Given the description of an element on the screen output the (x, y) to click on. 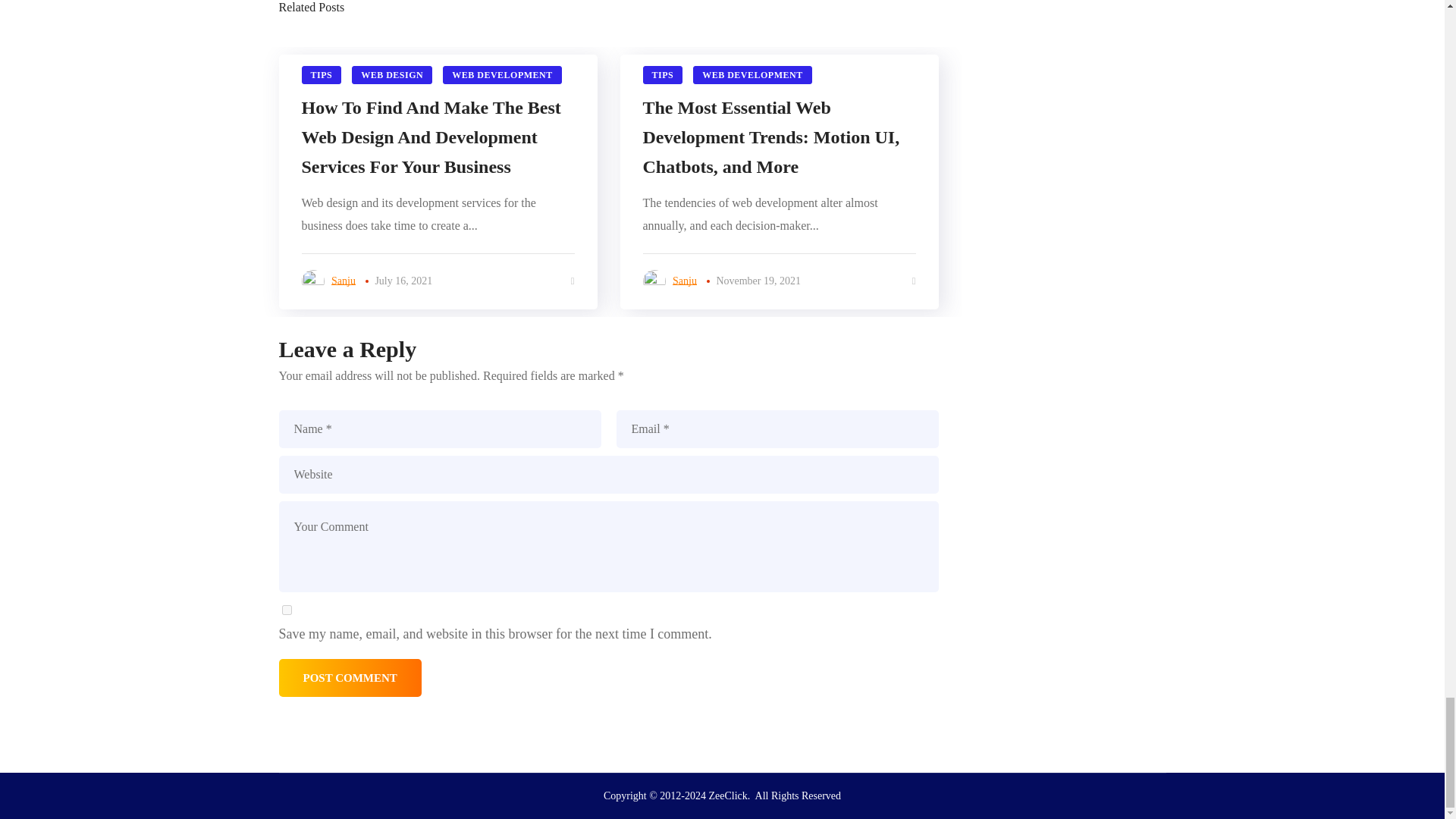
Website (609, 474)
yes (287, 610)
Post Comment (350, 677)
